Given the description of an element on the screen output the (x, y) to click on. 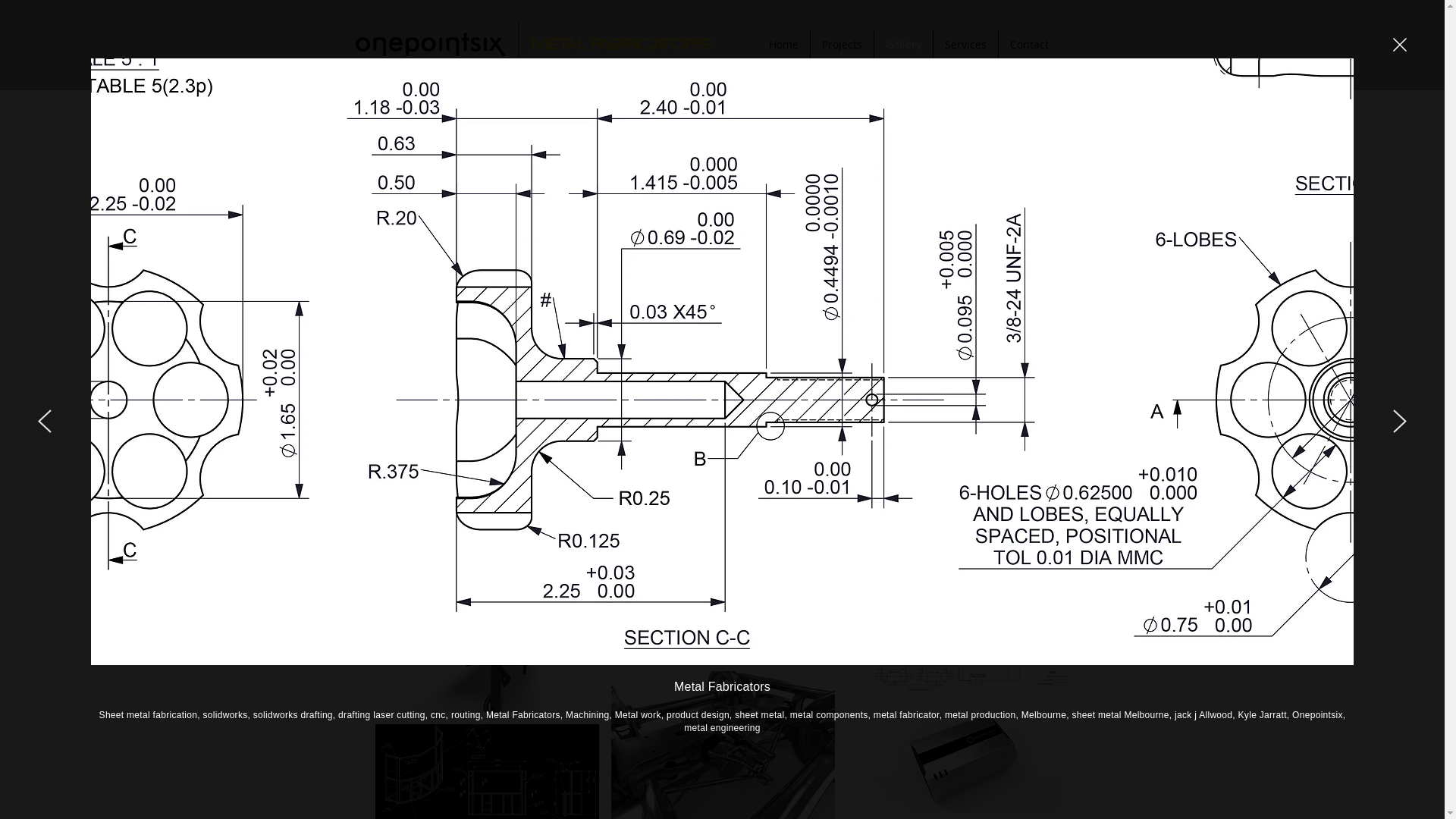
Home Element type: text (782, 43)
Services Element type: text (964, 43)
Gallery Element type: text (902, 43)
Projects Element type: text (840, 43)
Contact Element type: text (1028, 43)
